Given the description of an element on the screen output the (x, y) to click on. 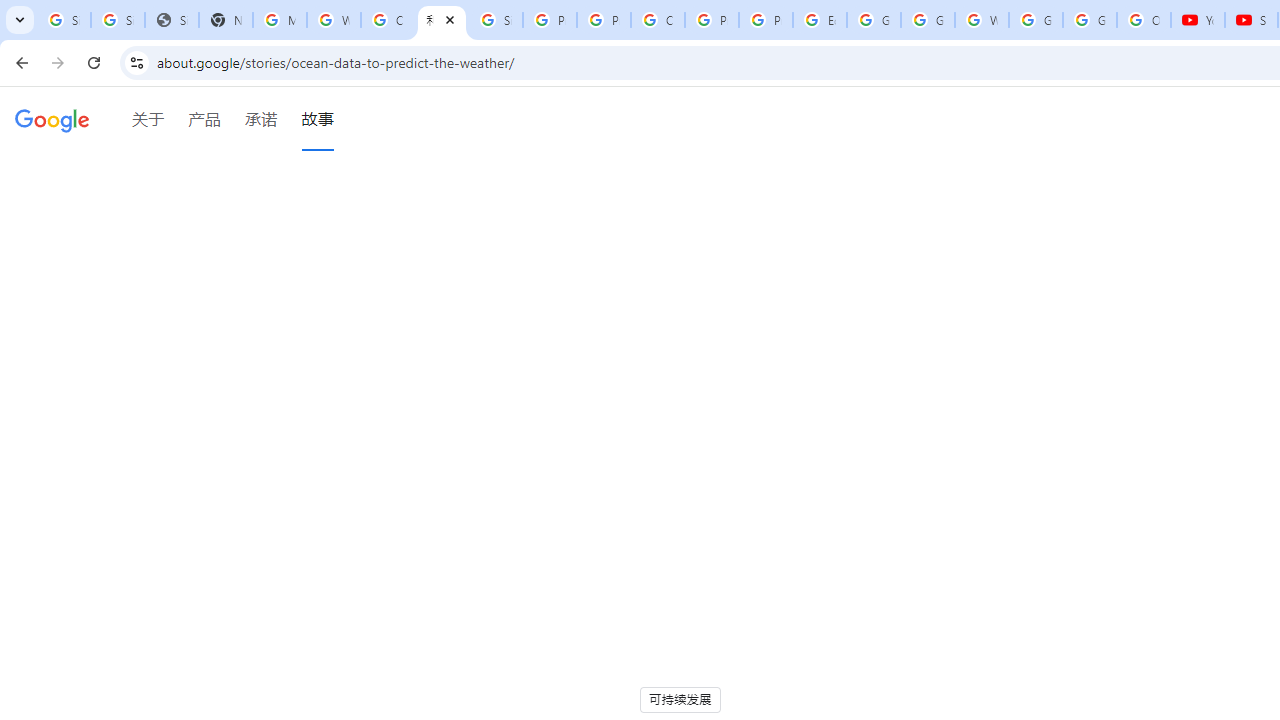
Sign in - Google Accounts (117, 20)
Edit and view right-to-left text - Google Docs Editors Help (819, 20)
YouTube (1197, 20)
New Tab (225, 20)
Create your Google Account (657, 20)
Google Slides: Sign-in (874, 20)
